Given the description of an element on the screen output the (x, y) to click on. 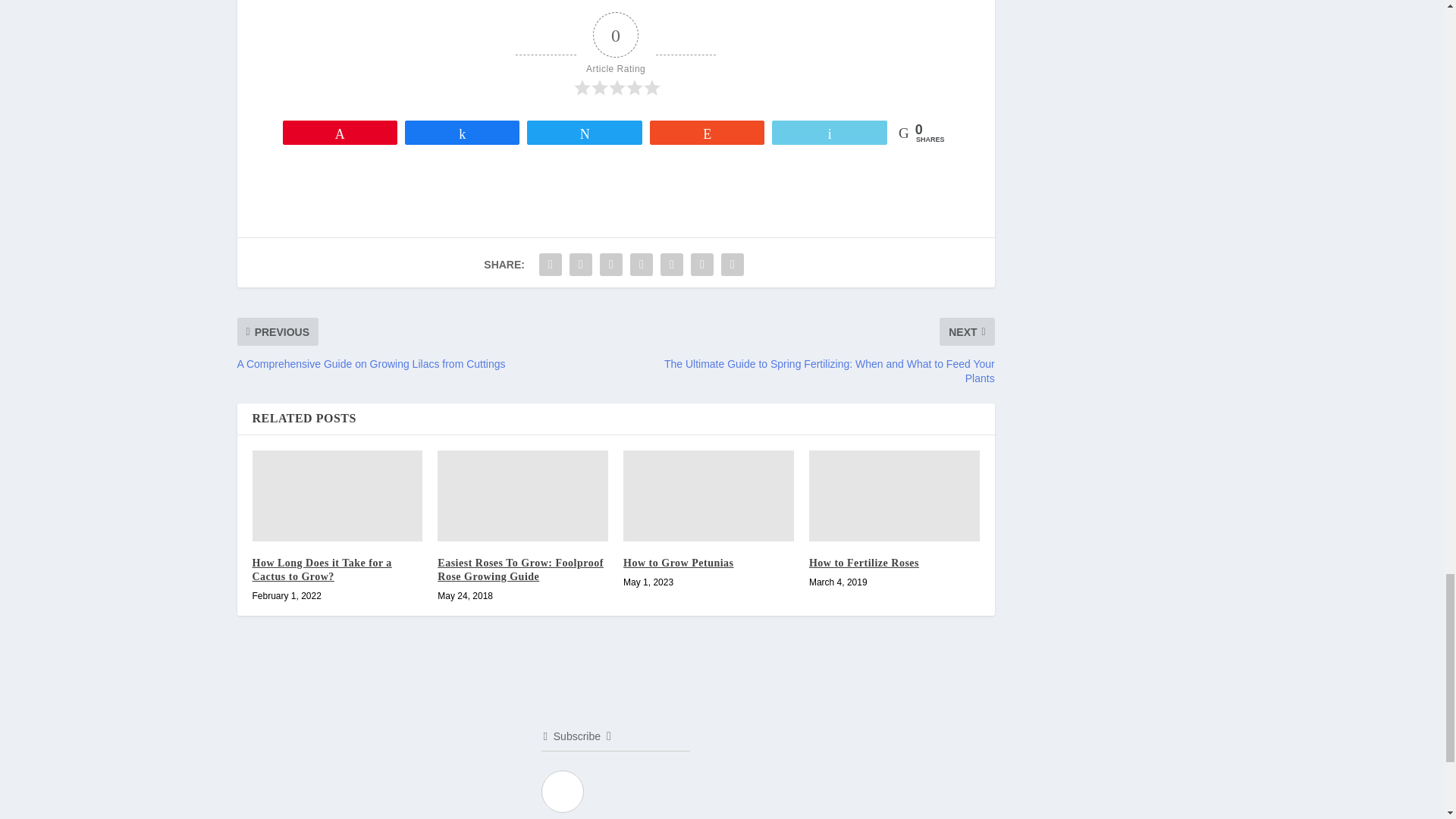
How to Grow Petunias (708, 495)
Easiest Roses To Grow: Foolproof Rose Growing Guide (521, 569)
How to Fertilize Roses (894, 495)
Easiest Roses To Grow: Foolproof Rose Growing Guide (523, 495)
How Long Does it Take for a Cactus to Grow? (336, 495)
How Long Does it Take for a Cactus to Grow? (321, 569)
